Given the description of an element on the screen output the (x, y) to click on. 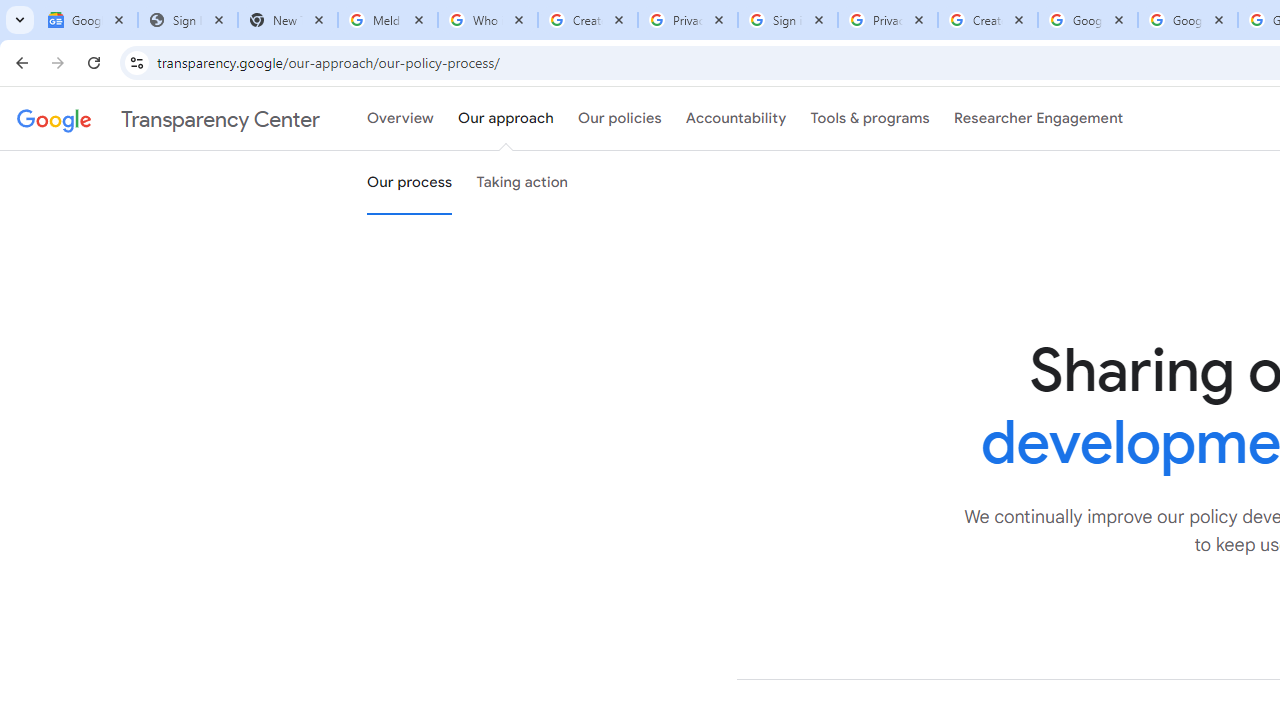
Tools & programs (869, 119)
Researcher Engagement (1038, 119)
Transparency Center (167, 119)
Create your Google Account (587, 20)
Accountability (735, 119)
Sign in - Google Accounts (788, 20)
Our process (409, 183)
